Given the description of an element on the screen output the (x, y) to click on. 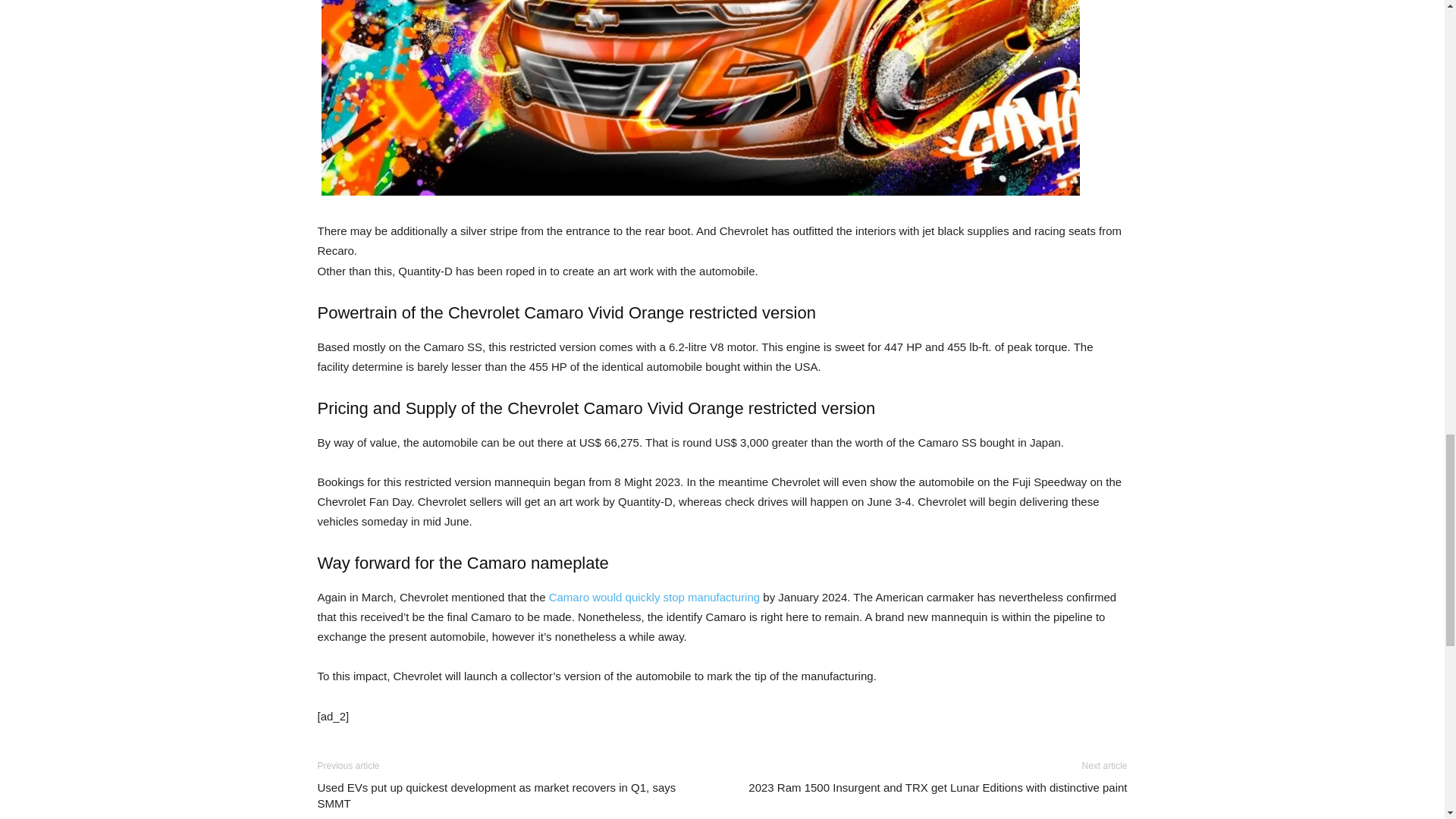
Camaro would quickly stop manufacturing (654, 596)
